Given the description of an element on the screen output the (x, y) to click on. 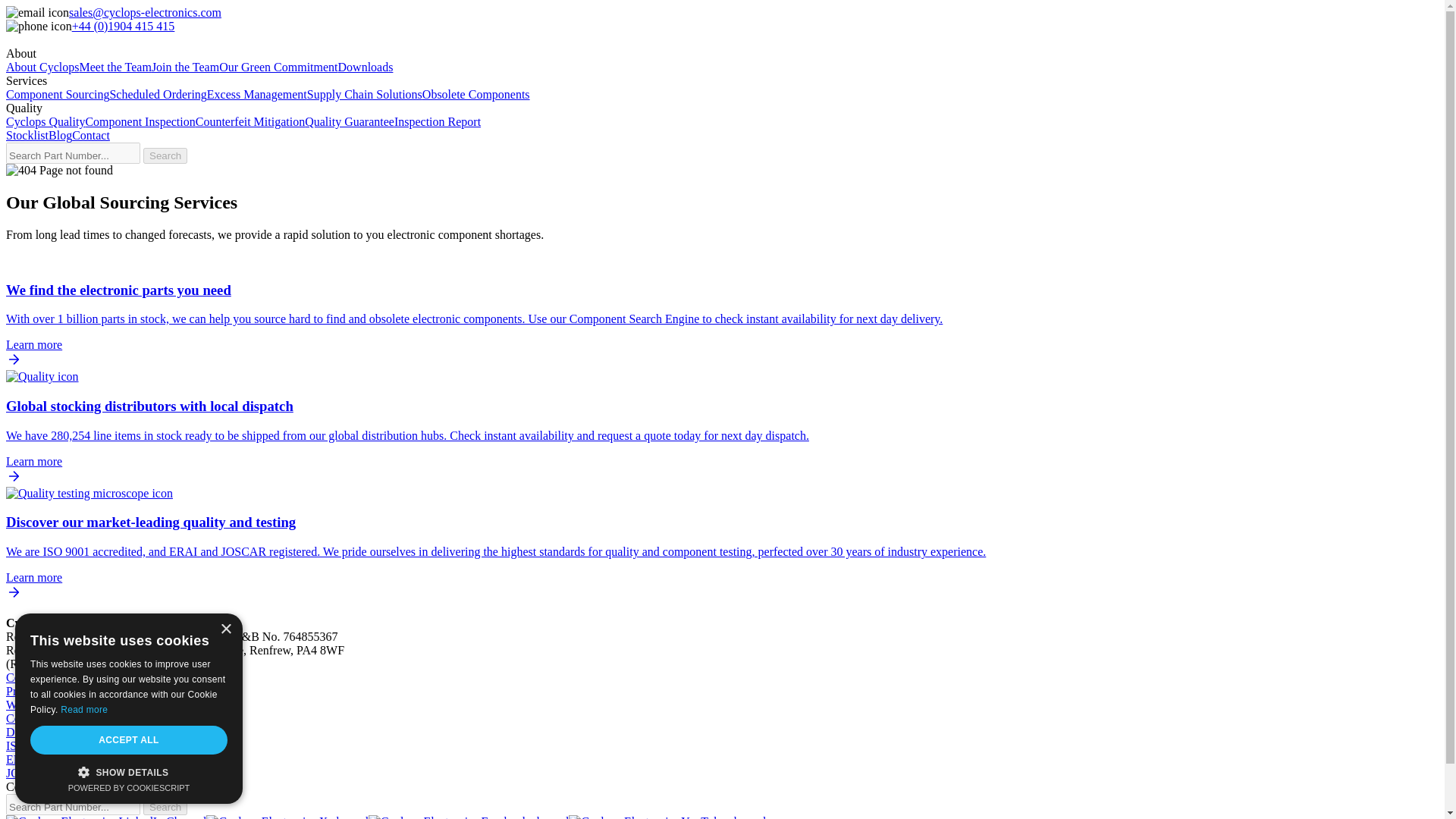
Excess Management (256, 93)
Scheduled Ordering (157, 93)
Quality Guarantee (349, 121)
Downloads (365, 66)
Component Sourcing (57, 93)
Search (164, 155)
Component Inspection (139, 121)
Consent Management Platform (129, 787)
Stocklist (26, 134)
Counterfeit Mitigation (249, 121)
Meet the Team (114, 66)
Blog (59, 134)
Inspection Report (437, 121)
Search (164, 806)
Join the Team (185, 66)
